Given the description of an element on the screen output the (x, y) to click on. 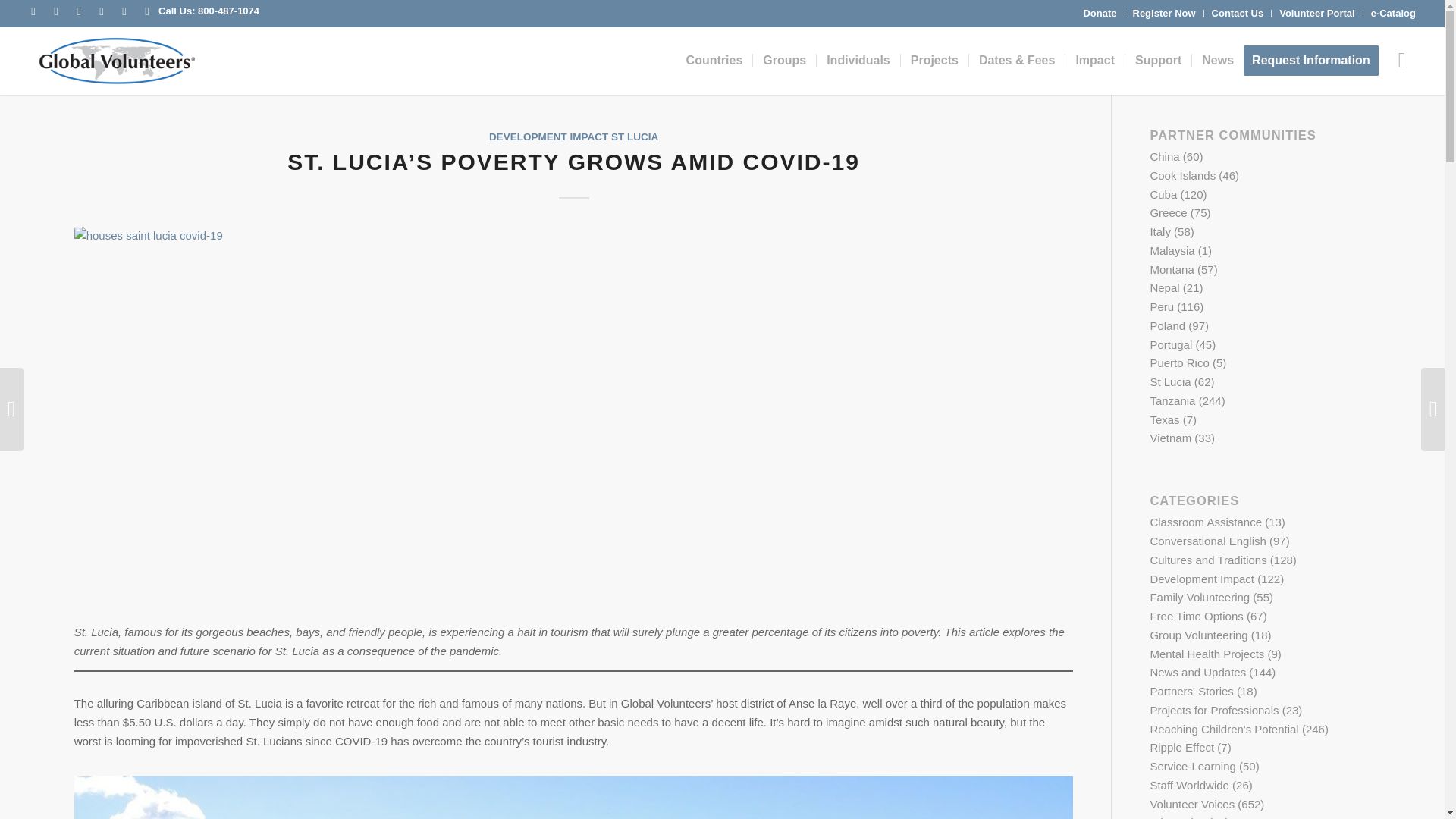
Groups (783, 60)
Individuals (857, 60)
Facebook (33, 11)
Volunteer Portal (1316, 13)
Projects (933, 60)
Countries (714, 60)
Youtube (78, 11)
Contact Us (1237, 13)
X (55, 11)
Mail (146, 11)
